Given the description of an element on the screen output the (x, y) to click on. 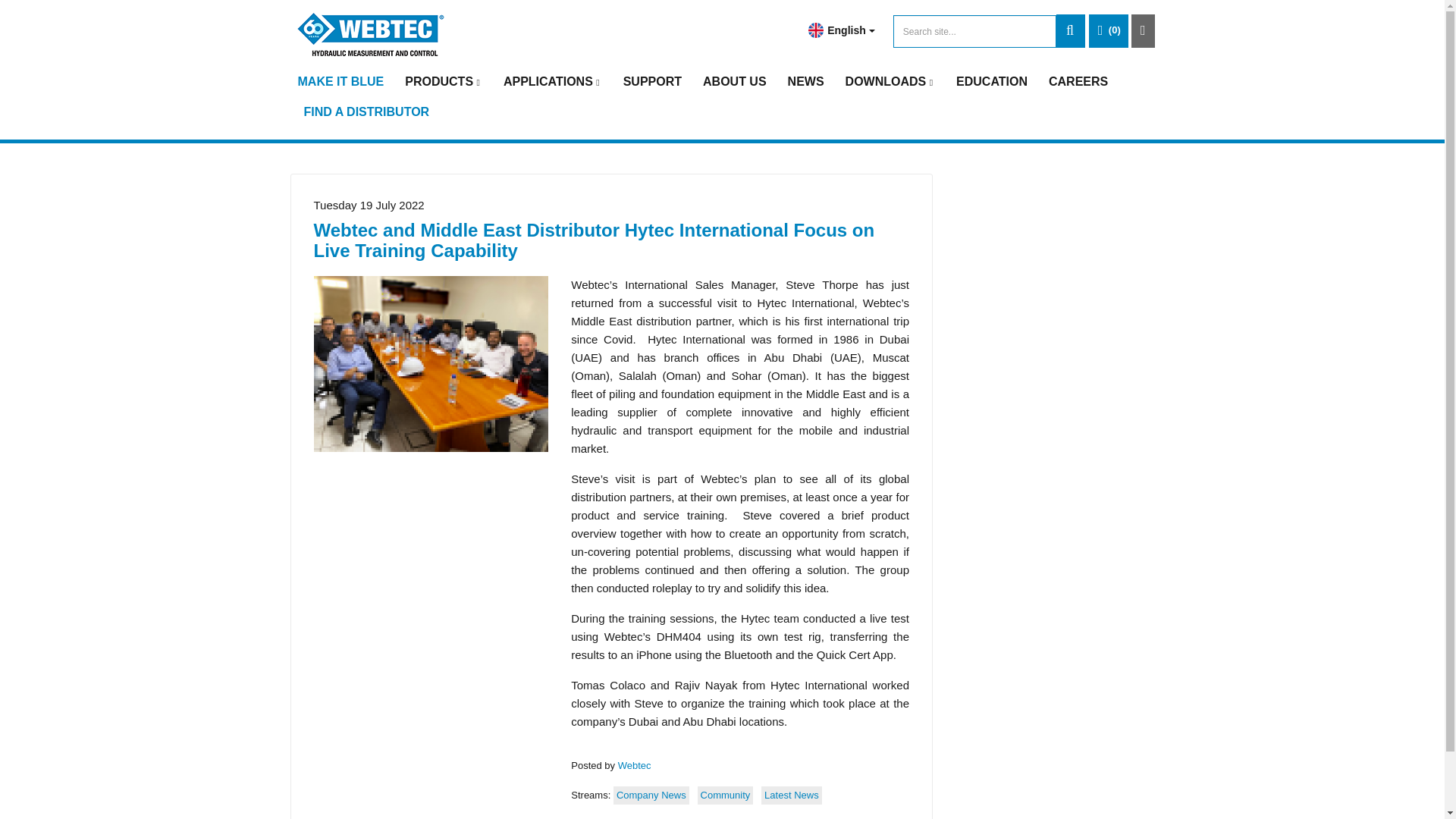
PRODUCTS   (443, 81)
MAKE IT BLUE (340, 81)
APPLICATIONS   (553, 81)
Go to Homepage (371, 34)
English (840, 30)
English (816, 29)
